Given the description of an element on the screen output the (x, y) to click on. 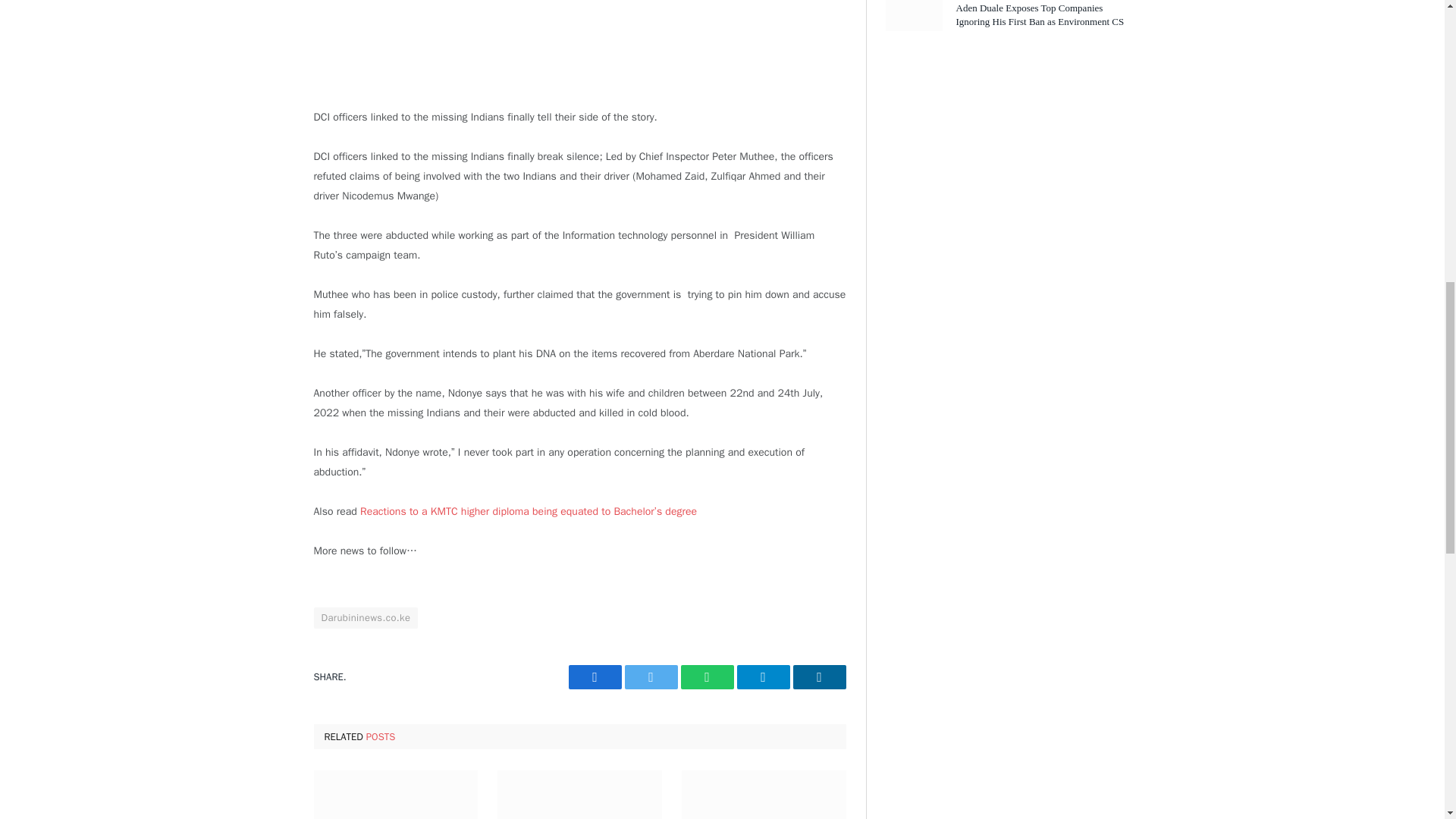
Darubininews.co.ke (366, 617)
Twitter (651, 677)
Share on Twitter (651, 677)
Facebook (595, 677)
Share on Facebook (595, 677)
Telegram (763, 677)
WhatsApp (707, 677)
LinkedIn (819, 677)
